Given the description of an element on the screen output the (x, y) to click on. 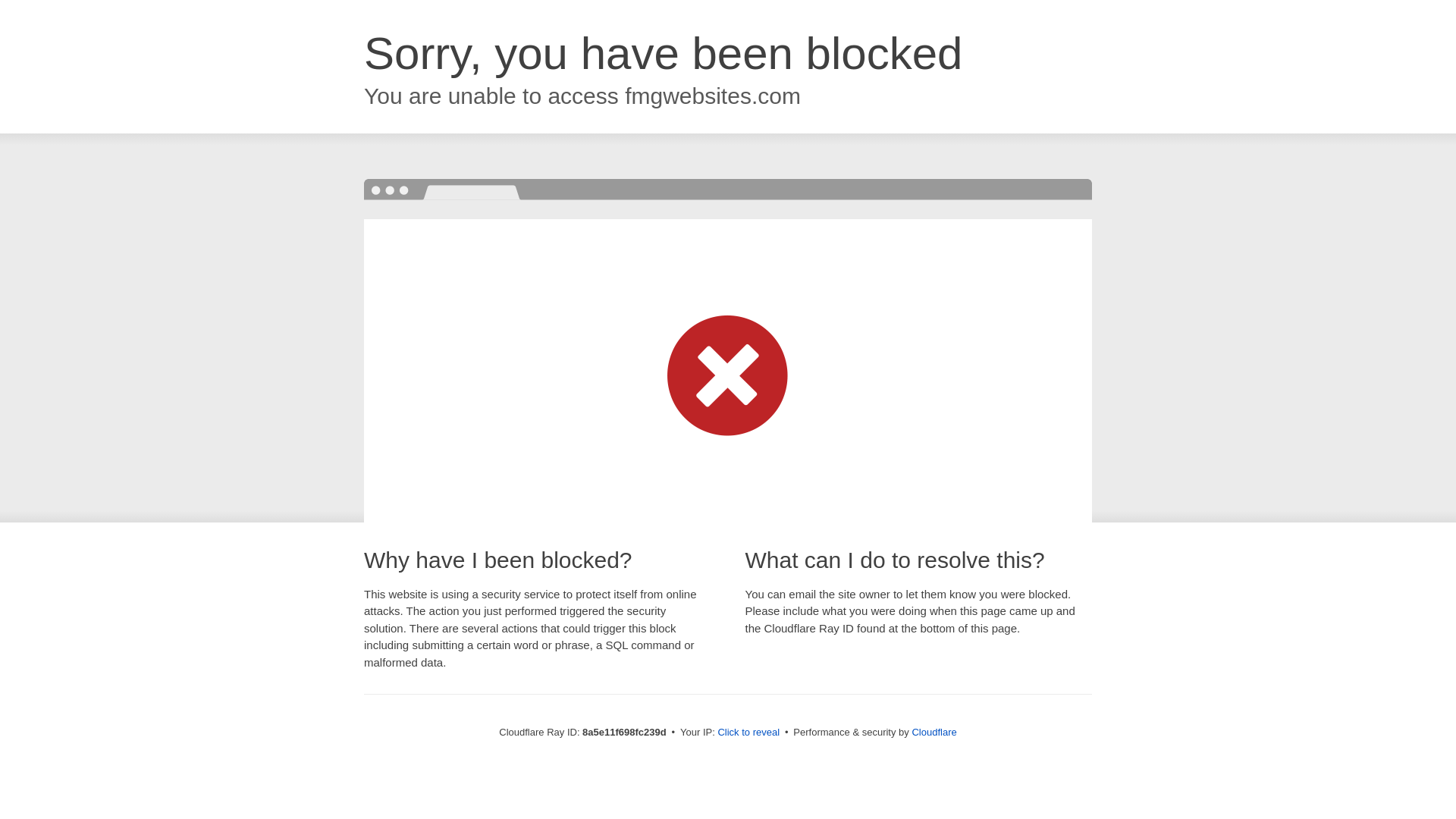
Cloudflare (933, 731)
Click to reveal (747, 732)
